Given the description of an element on the screen output the (x, y) to click on. 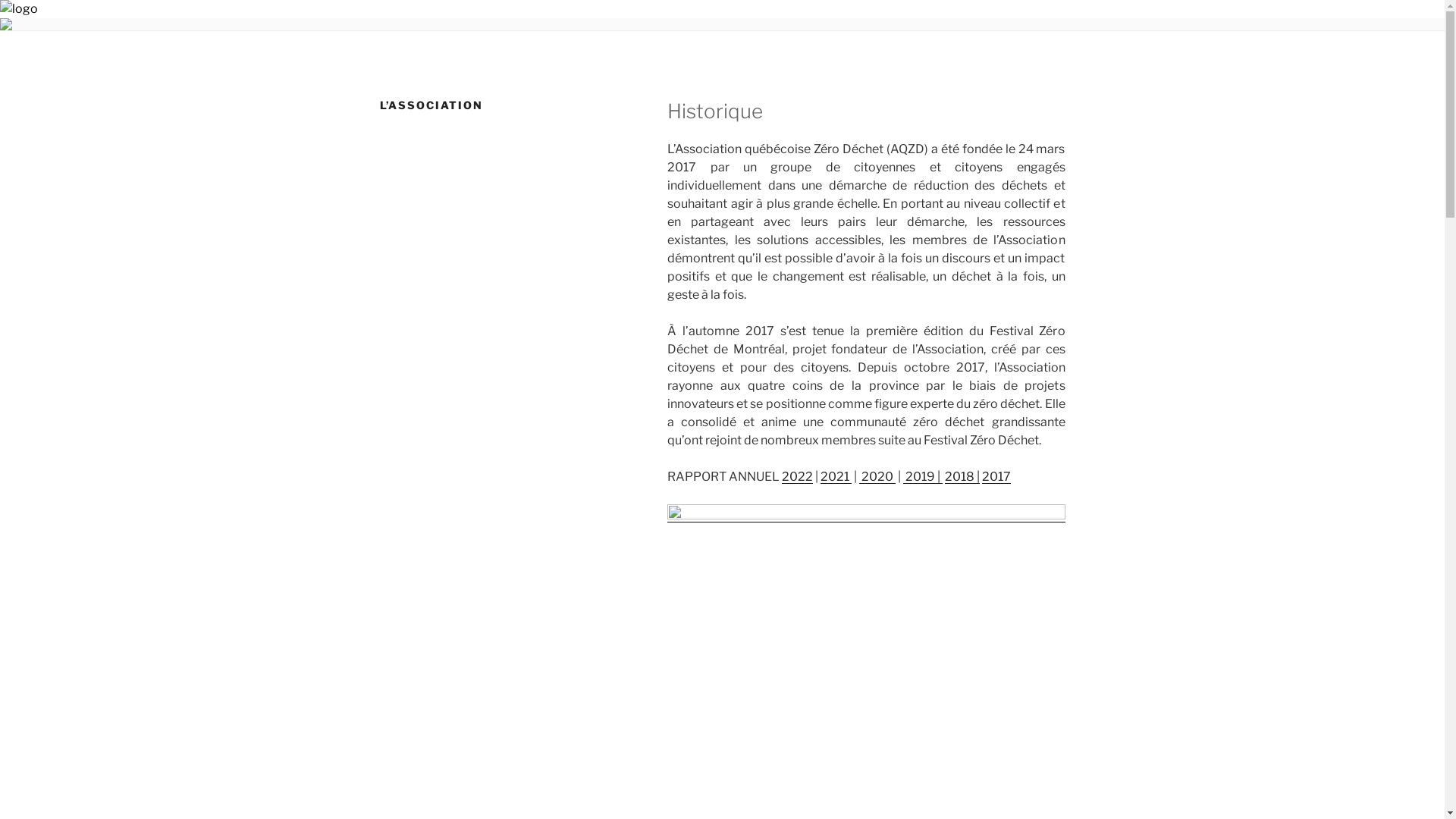
2018 | Element type: text (961, 476)
2017 Element type: text (996, 476)
2021 Element type: text (835, 476)
2019 |  Element type: text (922, 476)
2020 Element type: text (877, 476)
2022 Element type: text (796, 476)
